Given the description of an element on the screen output the (x, y) to click on. 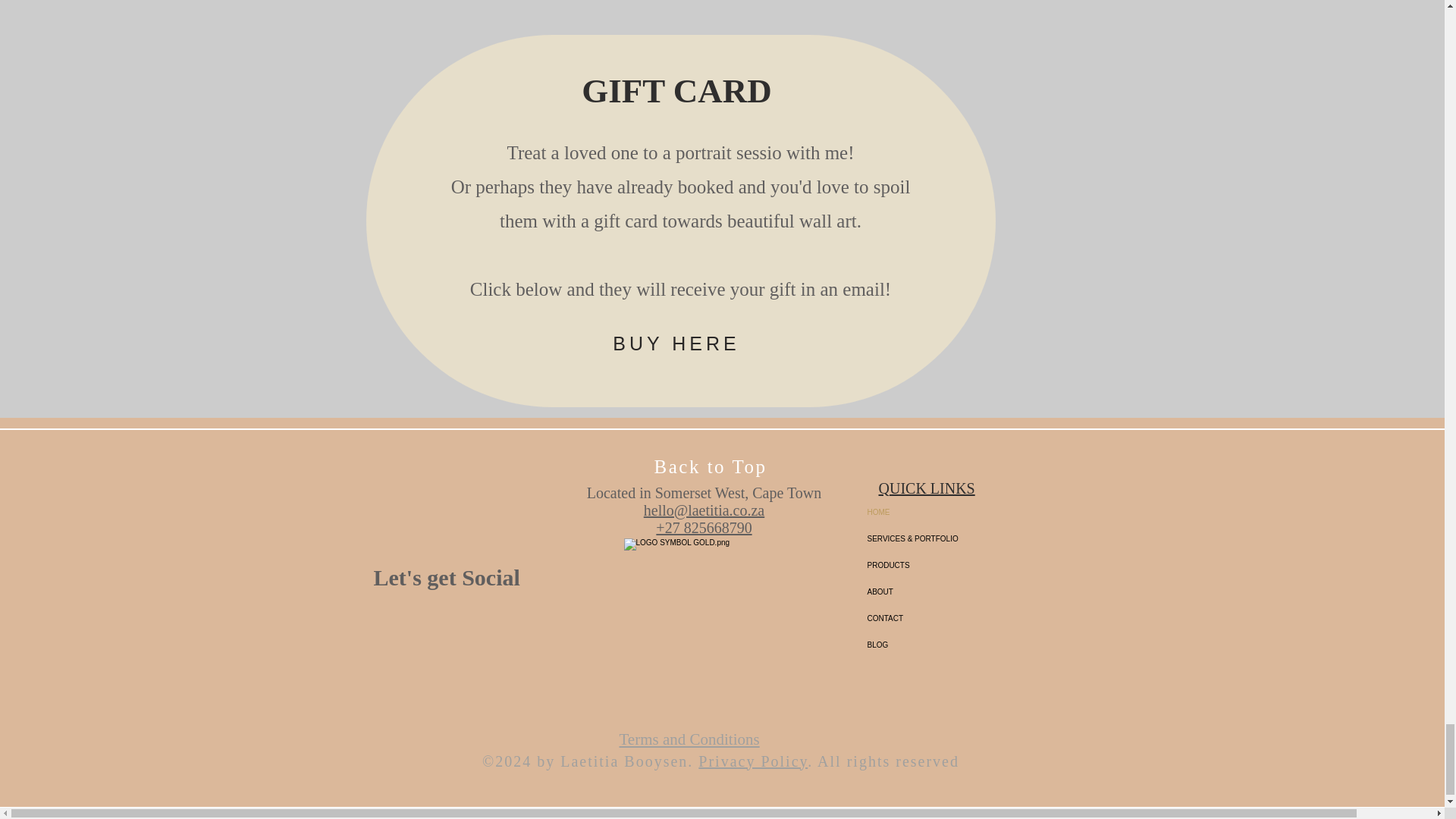
PRODUCTS (967, 565)
BUY HERE (676, 344)
CONTACT (967, 618)
Terms and Conditions (688, 739)
BLOG (967, 644)
Privacy Policy (753, 760)
ABOUT (967, 591)
HOME (967, 511)
Back to Top (710, 466)
